Given the description of an element on the screen output the (x, y) to click on. 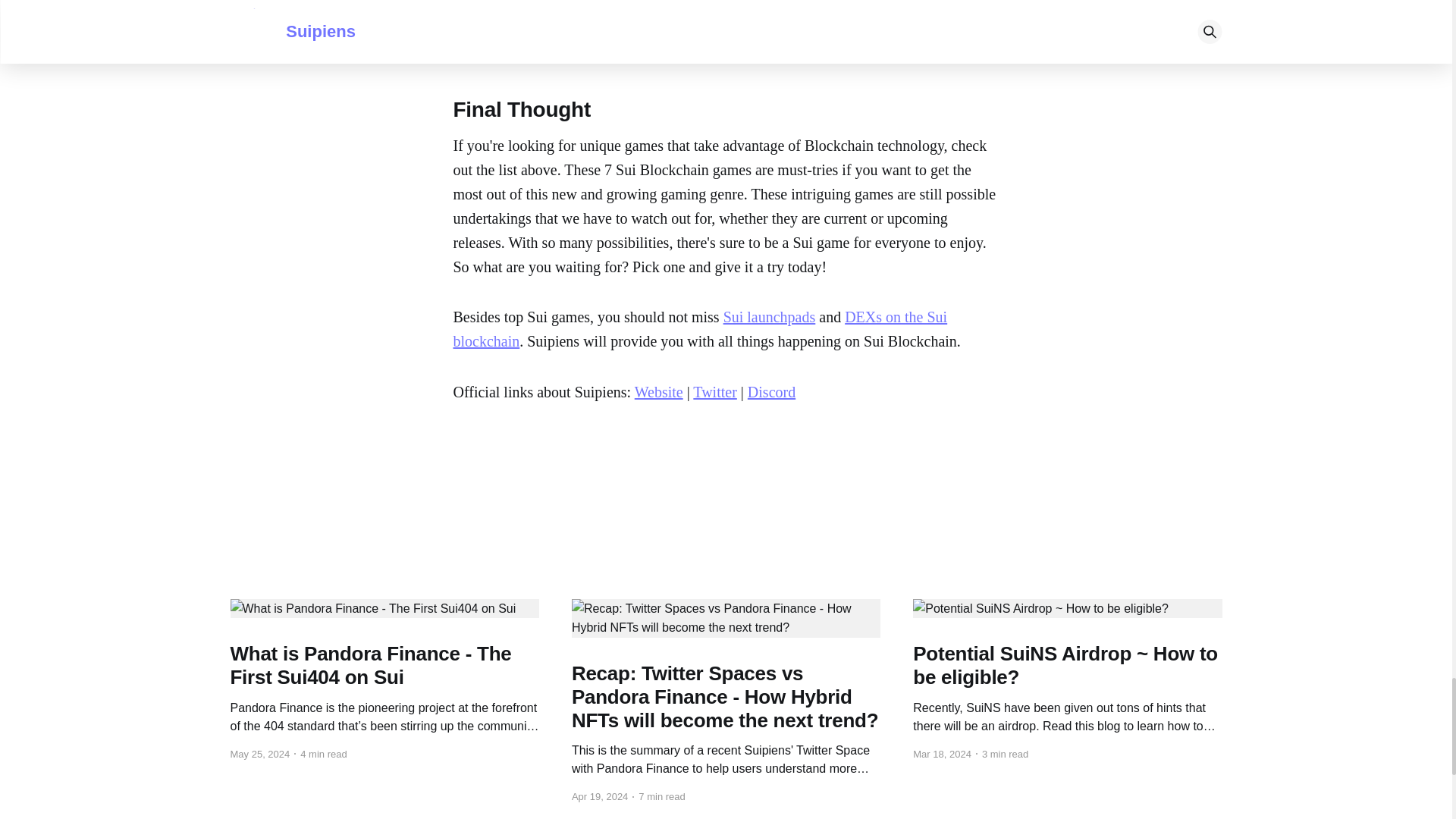
Website (658, 392)
Twitter (714, 392)
DEXs on the Sui blockchain (699, 328)
Discord (771, 392)
Sui launchpads (769, 316)
